Given the description of an element on the screen output the (x, y) to click on. 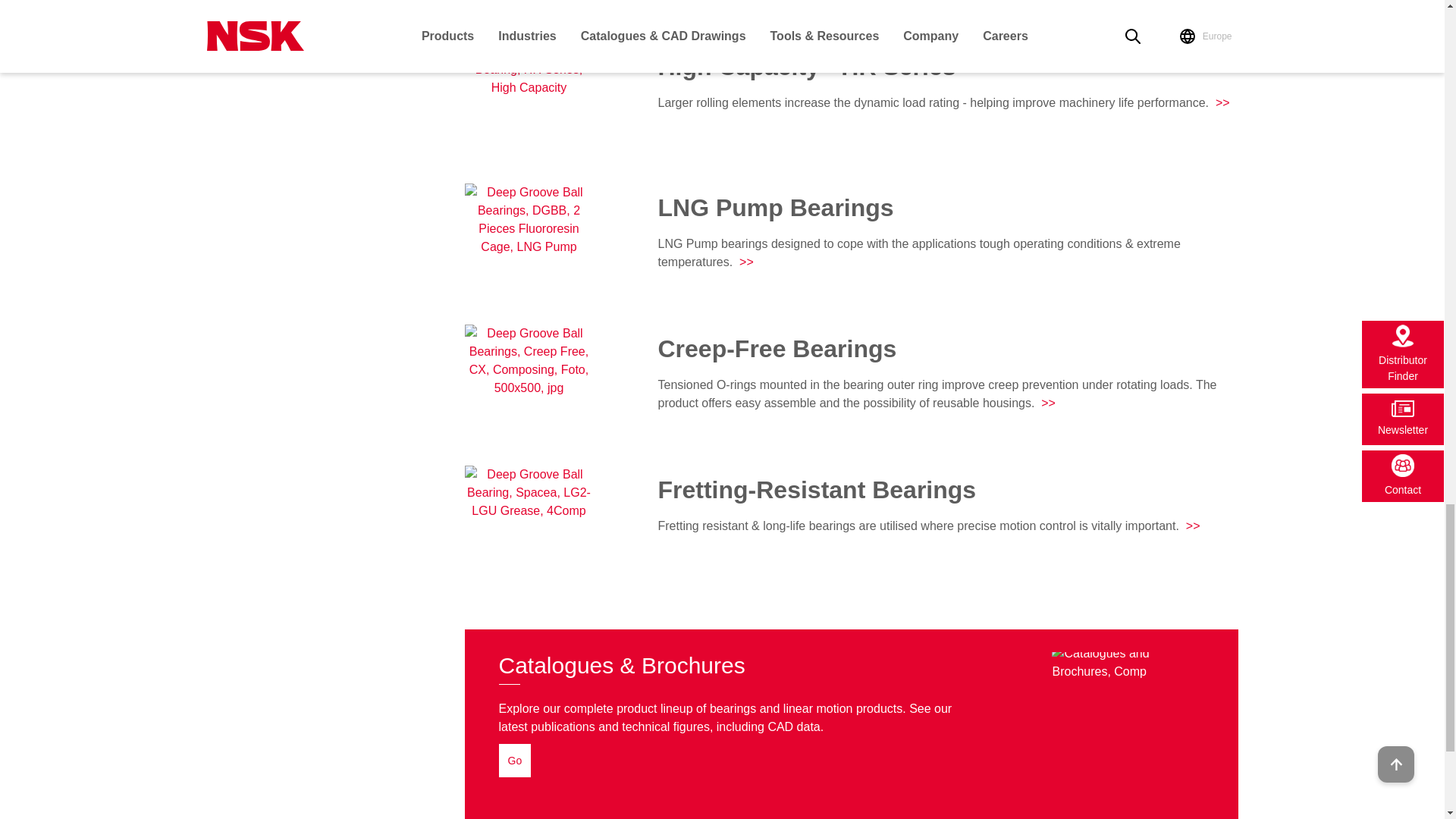
Deep Groove Ball Bearing, HR Series, High Capacity (528, 106)
Deep Groove Ball Bearing, Spacea, LG2-LGU Grease, 4Comp (528, 530)
Catalogues and Brochures, Comp (1127, 662)
